Given the description of an element on the screen output the (x, y) to click on. 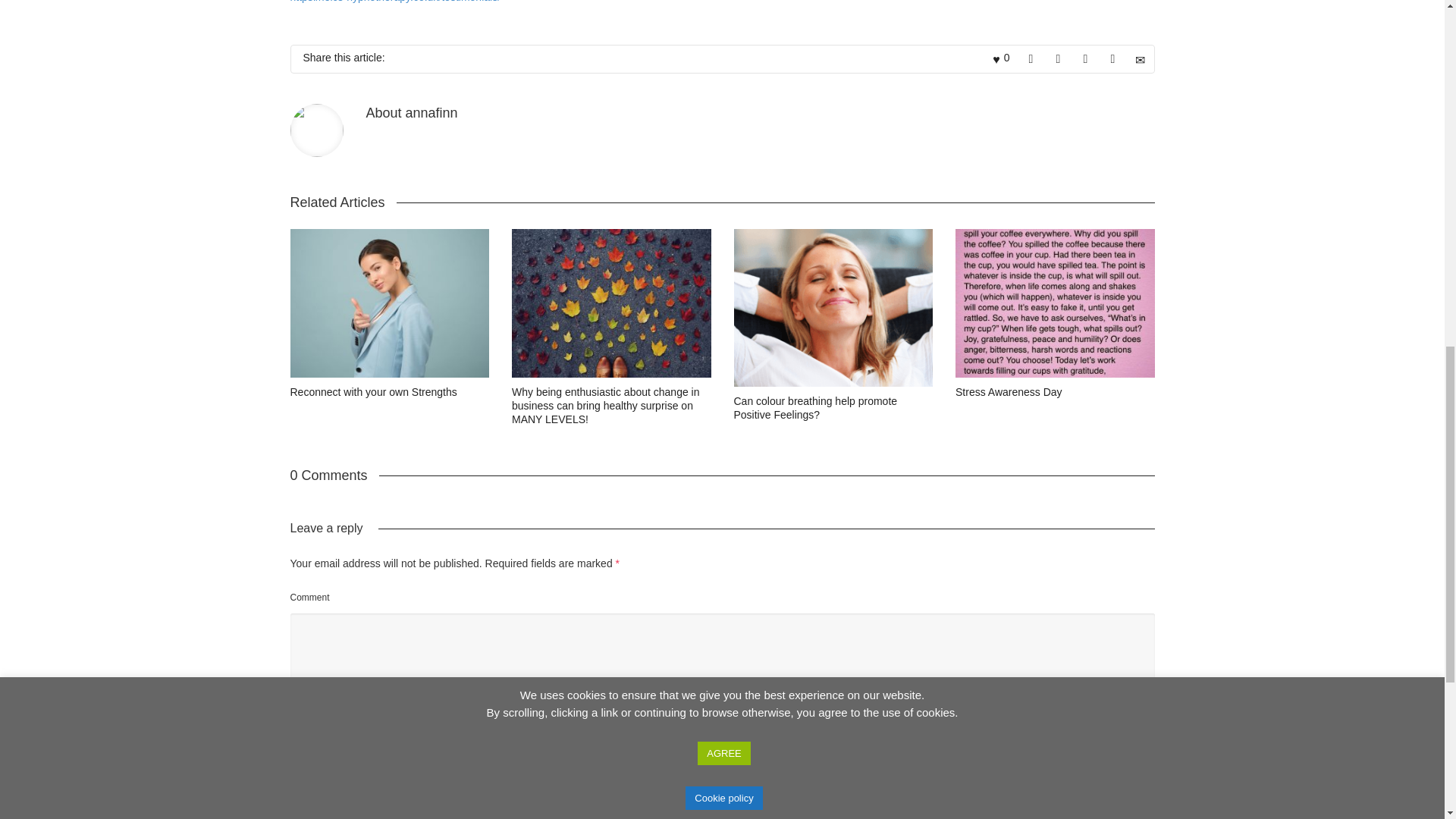
Permanent Link to Stress Awareness Day (1008, 391)
Permanent Link to Reconnect with your own Strengths (373, 391)
